Given the description of an element on the screen output the (x, y) to click on. 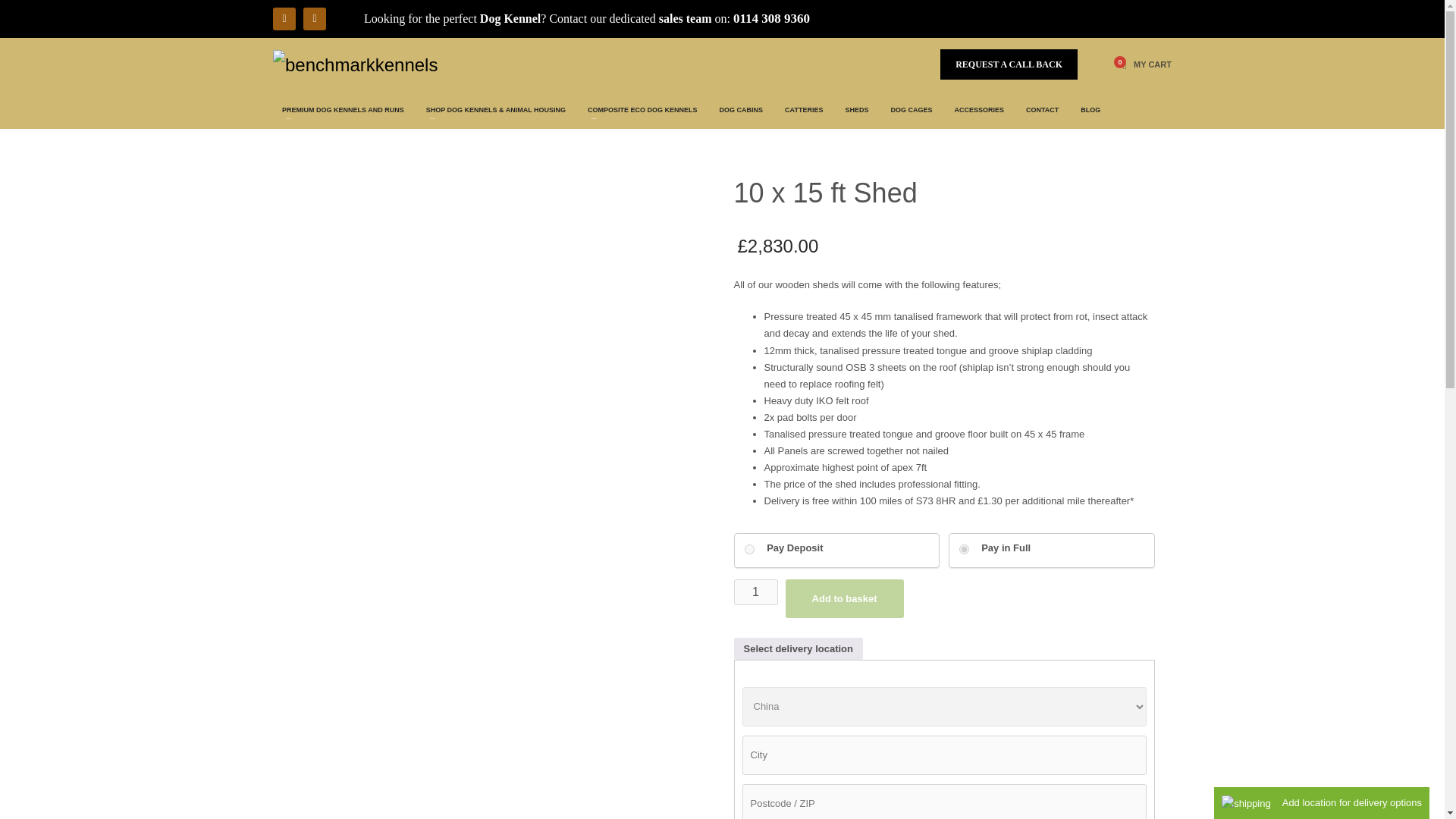
instagram (314, 18)
0114 308 9360 (771, 17)
yes (749, 549)
DOG CABINS (741, 109)
BLOG (1090, 109)
MY CART (1143, 64)
CONTACT (1041, 109)
Just another WordPress site (355, 64)
SHEDS (856, 109)
REQUEST A CALL BACK (1008, 64)
1 (755, 592)
facebook (284, 18)
PREMIUM DOG KENNELS AND RUNS (343, 109)
ACCESSORIES (978, 109)
DOG CAGES (910, 109)
